Given the description of an element on the screen output the (x, y) to click on. 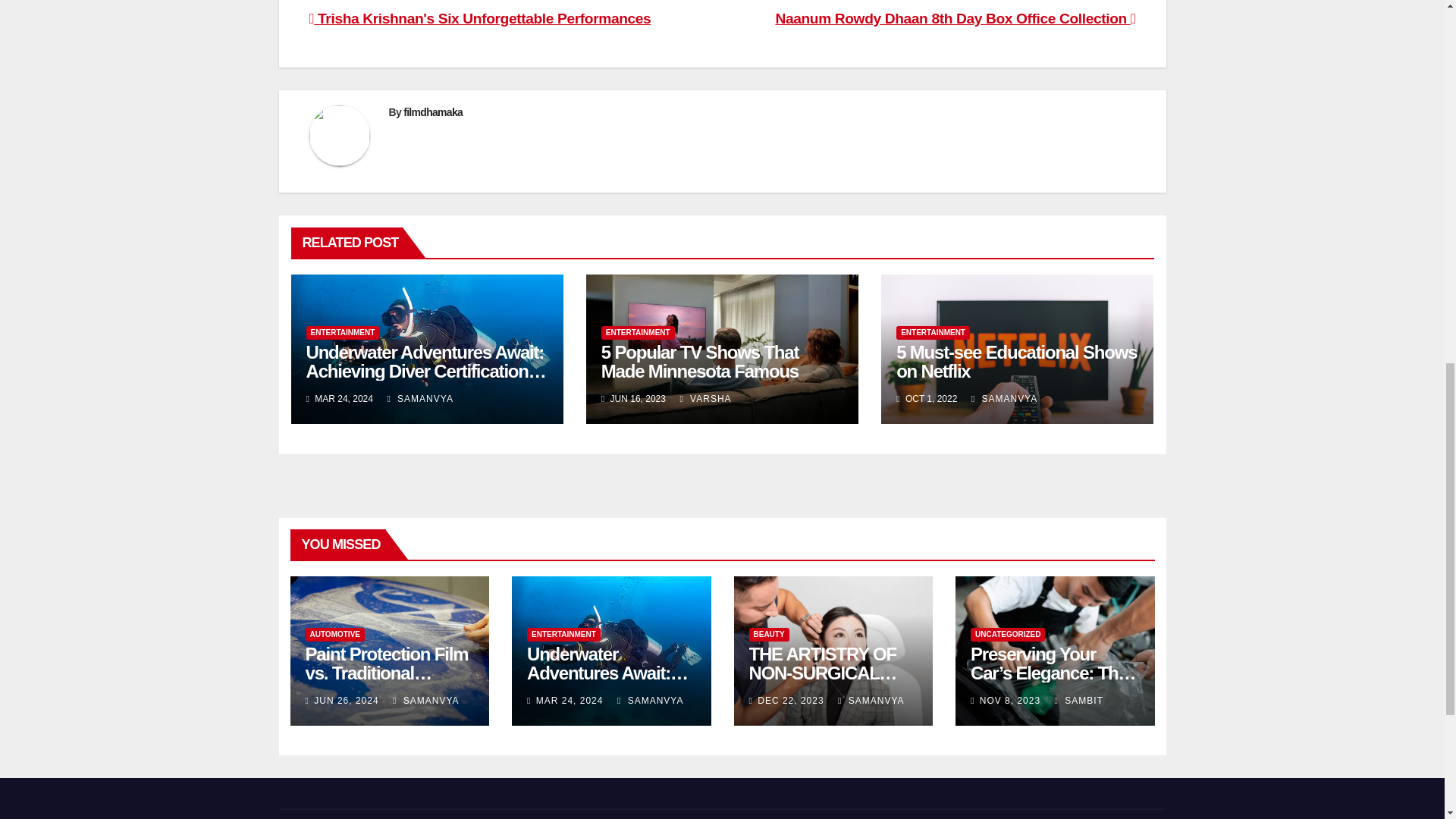
Naanum Rowdy Dhaan 8th Day Box Office Collection (954, 18)
Trisha Krishnan's Six Unforgettable Performances (479, 18)
